Given the description of an element on the screen output the (x, y) to click on. 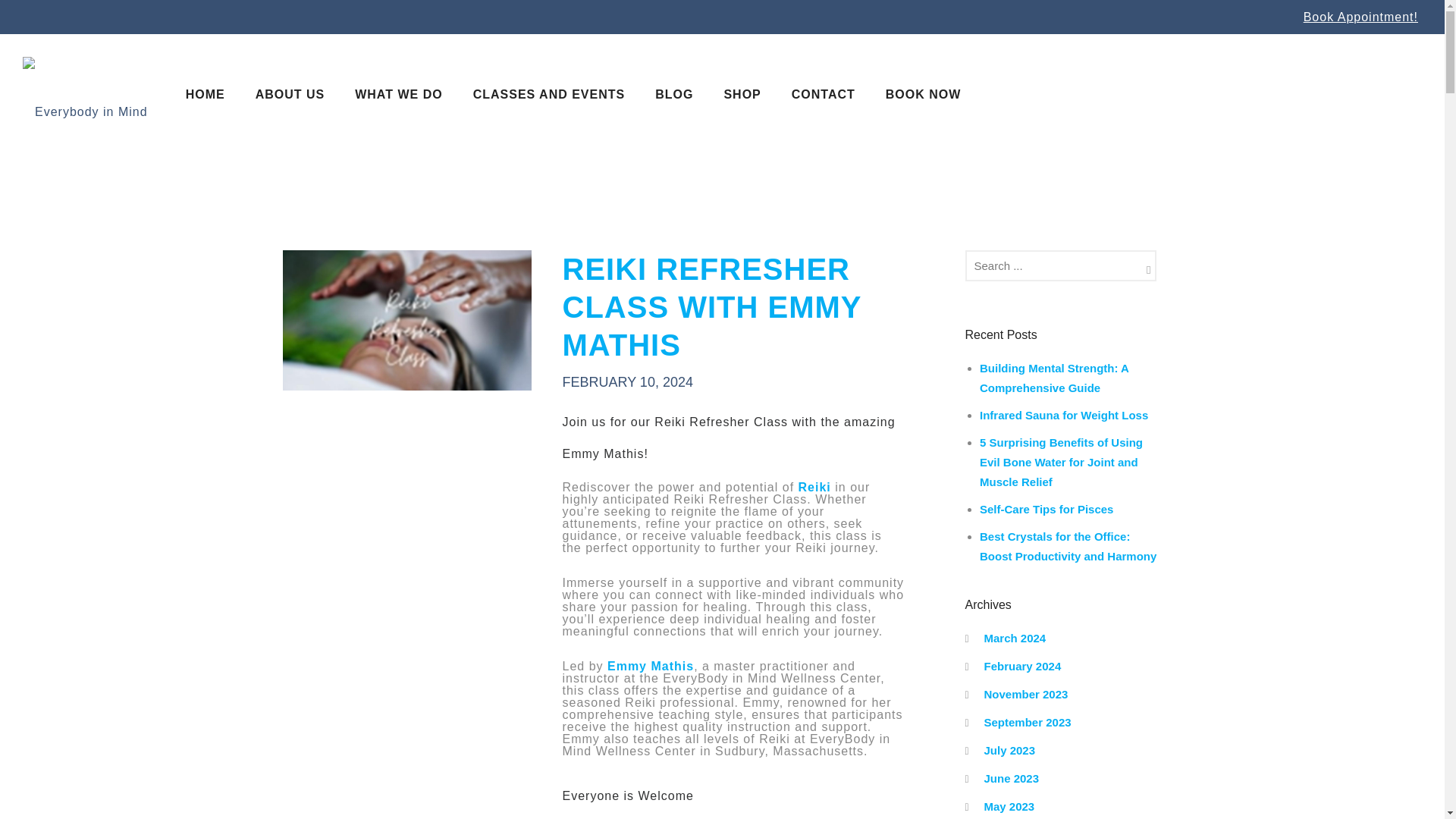
Home (205, 94)
CLASSES AND EVENTS (549, 94)
WHAT WE DO (398, 94)
Book Appointment! (1360, 16)
What We Do (398, 94)
HOME (205, 94)
CONTACT (823, 94)
SHOP (741, 94)
ABOUT US (290, 94)
BLOG (673, 94)
